Given the description of an element on the screen output the (x, y) to click on. 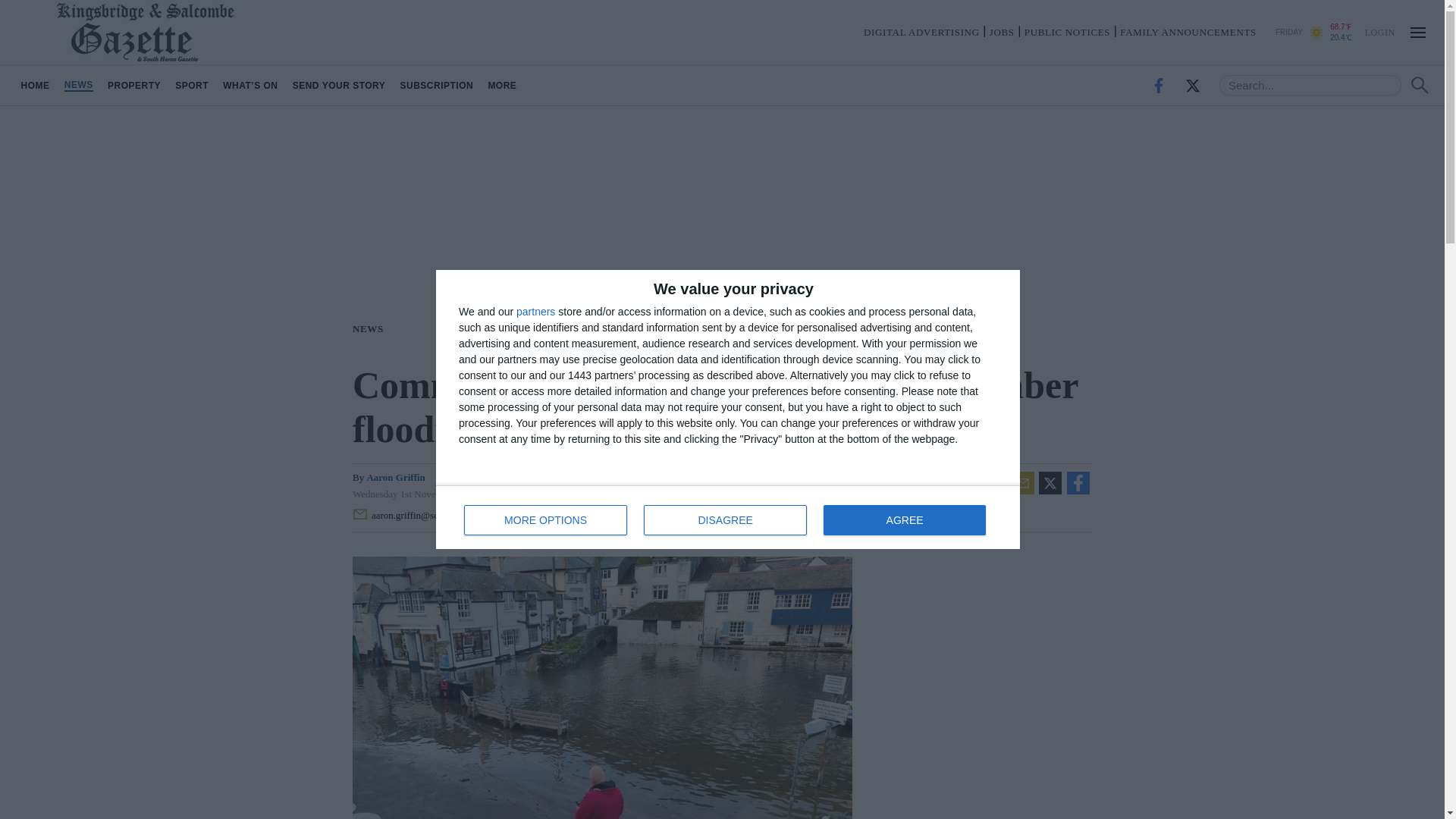
HOME (34, 85)
FAMILY ANNOUNCEMENTS (1187, 32)
MORE OPTIONS (545, 520)
NEWS (78, 85)
LOGIN (1379, 31)
MORE (502, 85)
PROPERTY (727, 516)
SPORT (133, 85)
DISAGREE (191, 85)
Aaron Griffin (724, 520)
NEWS (395, 477)
partners (371, 328)
SEND YOUR STORY (535, 311)
AGREE (339, 85)
